Given the description of an element on the screen output the (x, y) to click on. 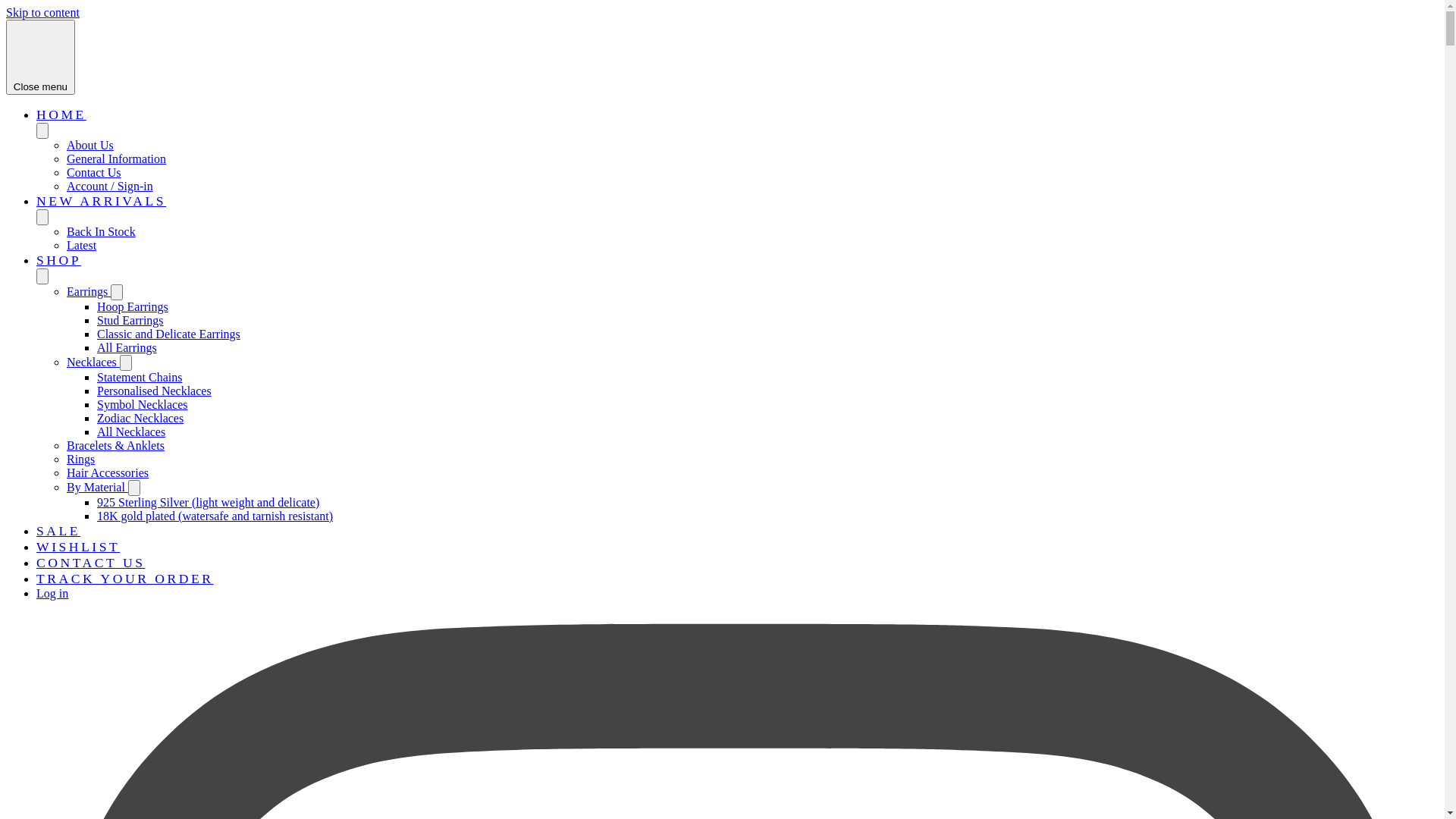
Earrings Element type: text (88, 291)
Contact Us Element type: text (93, 172)
SALE Element type: text (58, 530)
NEW ARRIVALS Element type: text (101, 200)
Hair Accessories Element type: text (107, 472)
Hoop Earrings Element type: text (132, 306)
Skip to content Element type: text (42, 12)
Zodiac Necklaces Element type: text (140, 417)
HOME Element type: text (61, 114)
By Material Element type: text (97, 486)
Latest Element type: text (81, 244)
WISHLIST Element type: text (77, 546)
Stud Earrings Element type: text (130, 319)
925 Sterling Silver (light weight and delicate) Element type: text (208, 501)
All Earrings Element type: text (126, 347)
General Information Element type: text (116, 158)
Back In Stock Element type: text (100, 231)
Classic and Delicate Earrings Element type: text (168, 333)
18K gold plated (watersafe and tarnish resistant) Element type: text (214, 515)
SHOP Element type: text (58, 259)
CONTACT US Element type: text (90, 562)
Log in Element type: text (52, 592)
Rings Element type: text (80, 458)
All Necklaces Element type: text (131, 431)
Statement Chains Element type: text (139, 376)
Symbol Necklaces Element type: text (142, 404)
TRACK YOUR ORDER Element type: text (124, 578)
Account / Sign-in Element type: text (109, 185)
Necklaces Element type: text (92, 361)
About Us Element type: text (89, 144)
Bracelets & Anklets Element type: text (115, 445)
Close menu Element type: text (40, 56)
Personalised Necklaces Element type: text (154, 390)
